Given the description of an element on the screen output the (x, y) to click on. 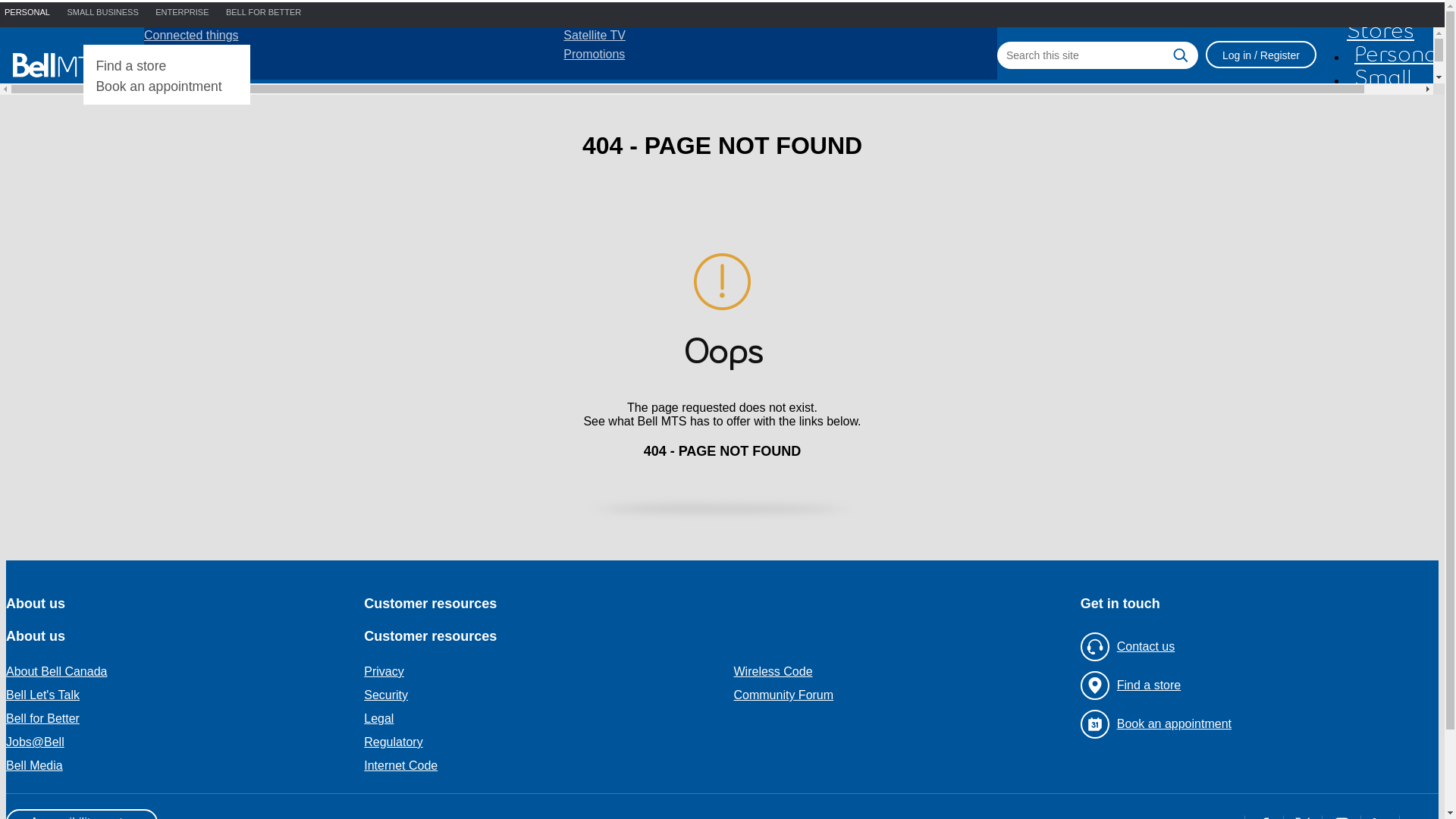
PERSONAL Element type: text (27, 11)
Find a store Element type: text (130, 65)
Legal Element type: text (542, 718)
MyAccount
Bell MTS Wireless, TV, Home phone, and Internet Element type: text (293, 266)
Book an appointment Element type: text (158, 86)
Insert a query. Press enter to send Element type: hover (1097, 55)
Support Element type: text (183, 119)
Bell for Better Element type: text (179, 718)
Wireless Code Element type: text (913, 671)
Small Business Element type: text (1395, 90)
ENTERPRISE Element type: text (181, 11)
Community Forum Element type: text (913, 699)
Contact us Element type: text (1253, 646)
Personal Element type: text (1398, 54)
Bell Let's Talk Element type: text (179, 695)
BELL MTS STORES Element type: text (166, 32)
Find a store Element type: text (1253, 685)
Connected things Element type: text (191, 34)
Promotions Element type: text (174, 53)
Satellite TV Element type: text (594, 34)
Regulatory Element type: text (542, 742)
Security Element type: text (542, 695)
Bell Media Element type: text (179, 770)
MyBell
Bell Mobility and Satellite TV Element type: text (594, 266)
Jobs@Bell Element type: text (179, 742)
Privacy Element type: text (542, 671)
Bell MTS Element type: text (59, 64)
Bell Support
Bell Mobility and Satellite TV Element type: text (594, 158)
Skip Navigation Element type: text (48, 12)
ACCESSIBILITY Element type: text (35, 83)
Log in / Register Element type: text (1260, 54)
Book an appointment Element type: text (1253, 723)
BELL FOR BETTER Element type: text (263, 11)
My accounts Element type: text (204, 227)
Internet Code Element type: text (542, 765)
SMALL BUSINESS Element type: text (102, 11)
About Bell Canada Element type: text (179, 671)
Promotions Element type: text (593, 53)
